Given the description of an element on the screen output the (x, y) to click on. 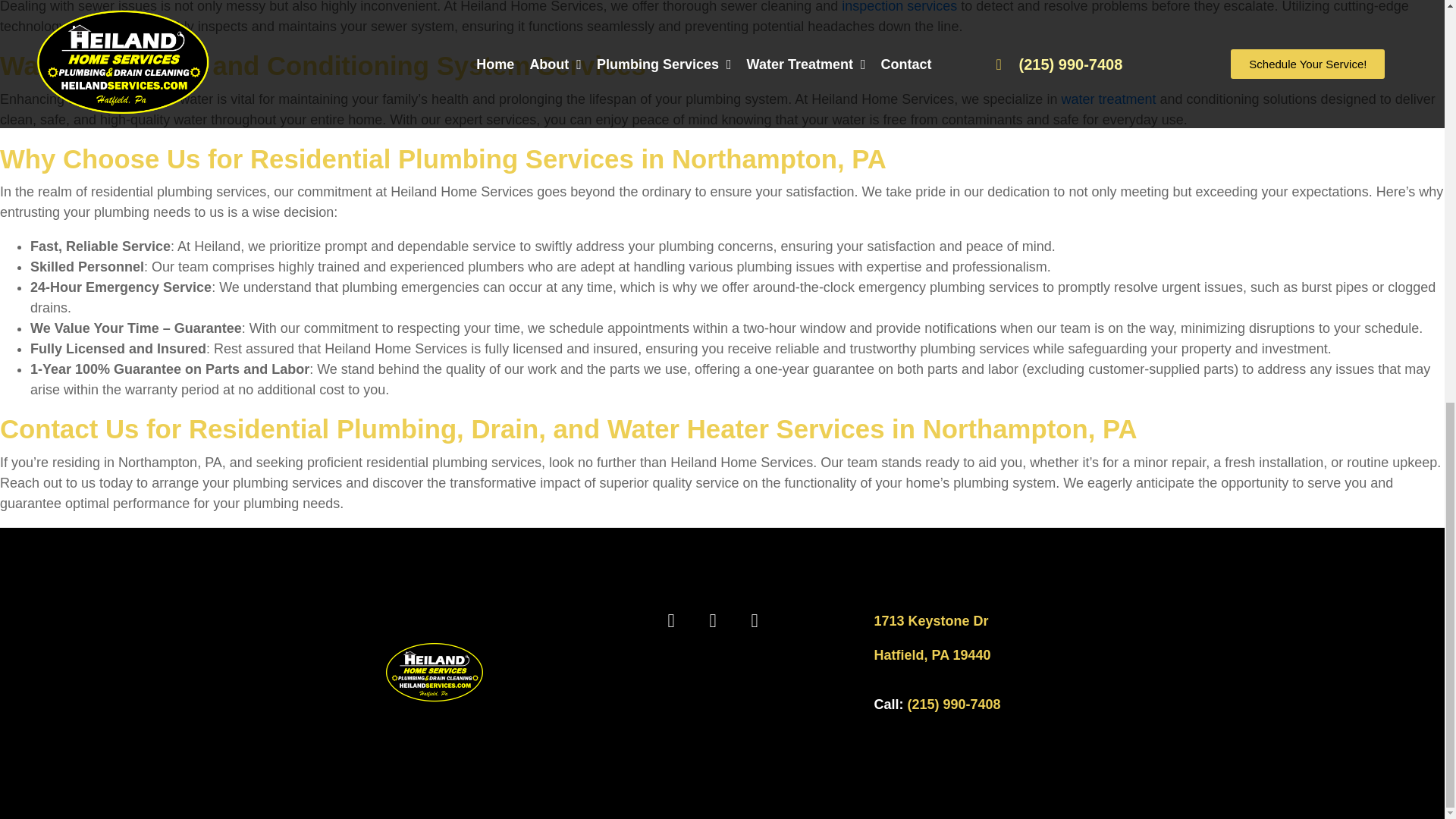
updatedLogoHatfield (433, 673)
